Given the description of an element on the screen output the (x, y) to click on. 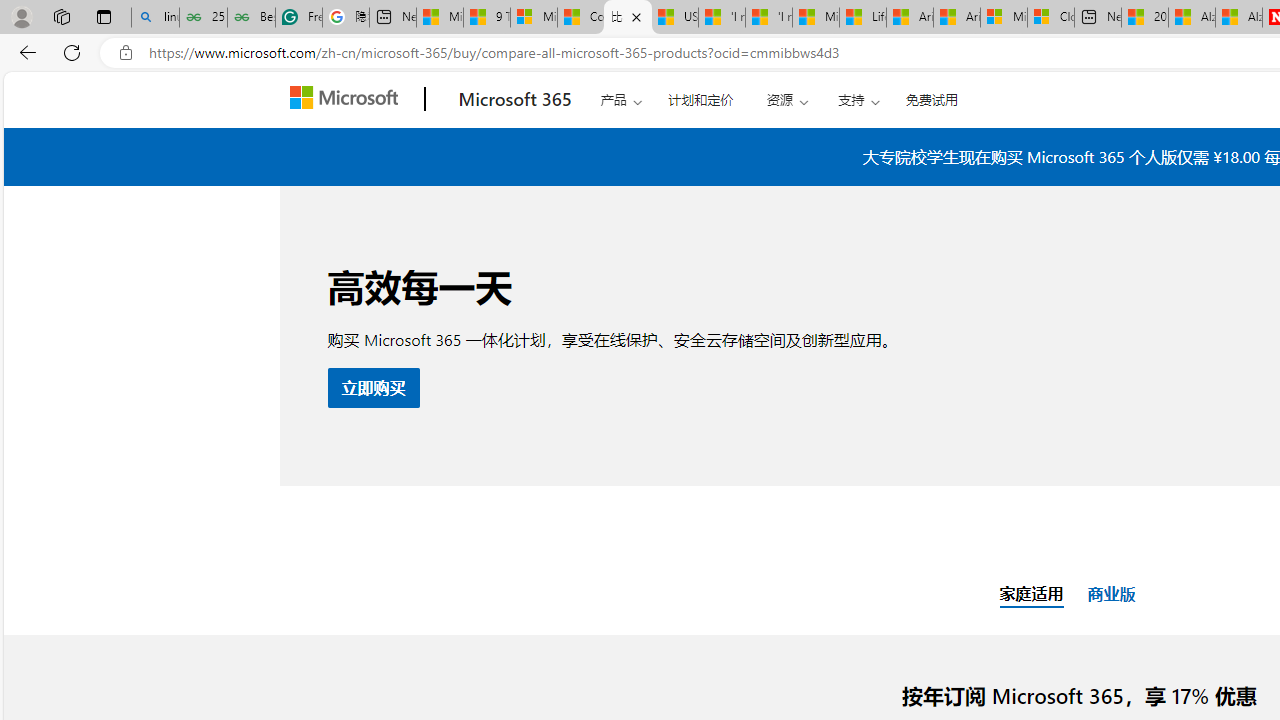
Cloud Computing Services | Microsoft Azure (1050, 17)
